Given the description of an element on the screen output the (x, y) to click on. 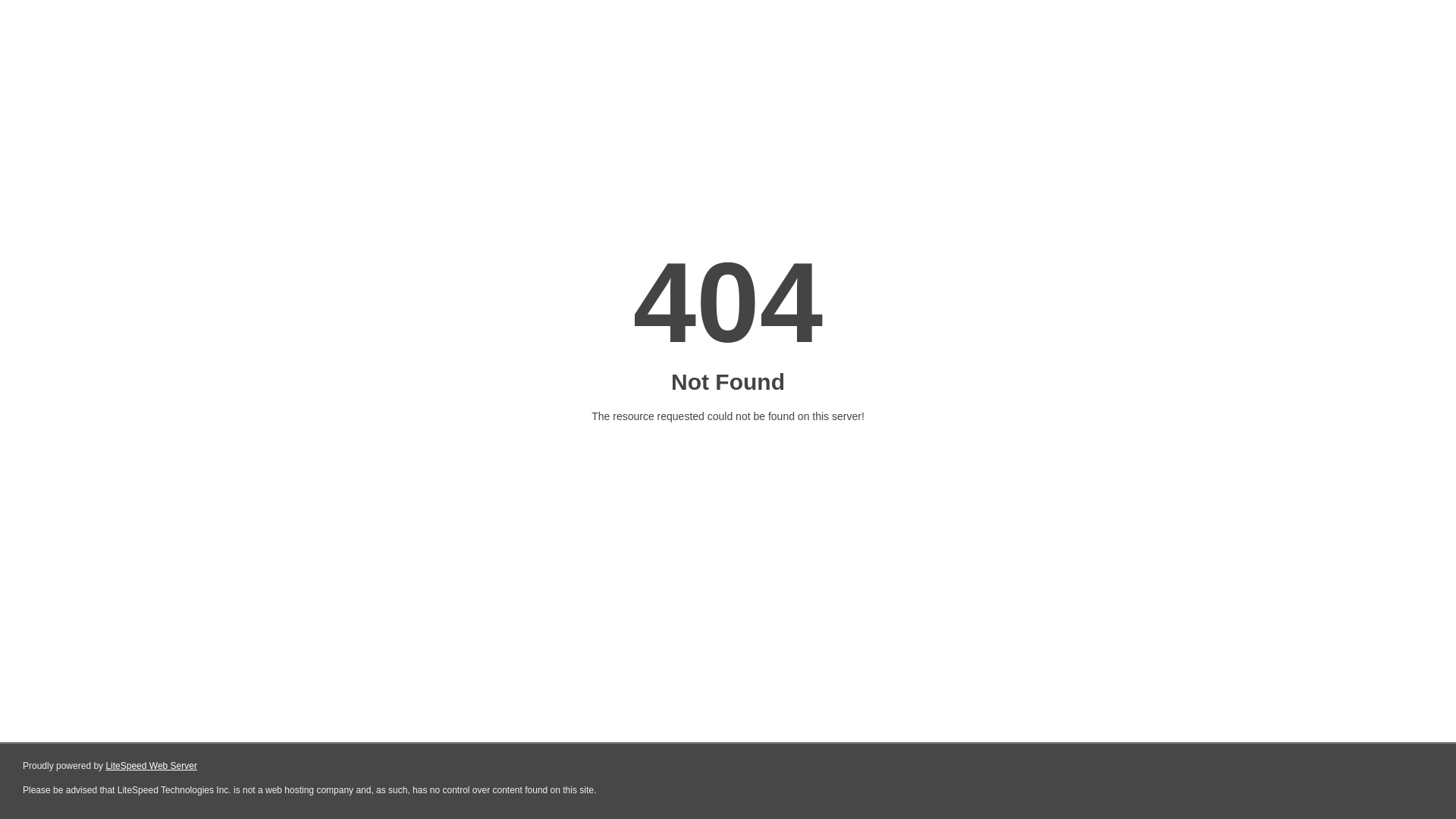
LiteSpeed Web Server Element type: text (151, 765)
